Given the description of an element on the screen output the (x, y) to click on. 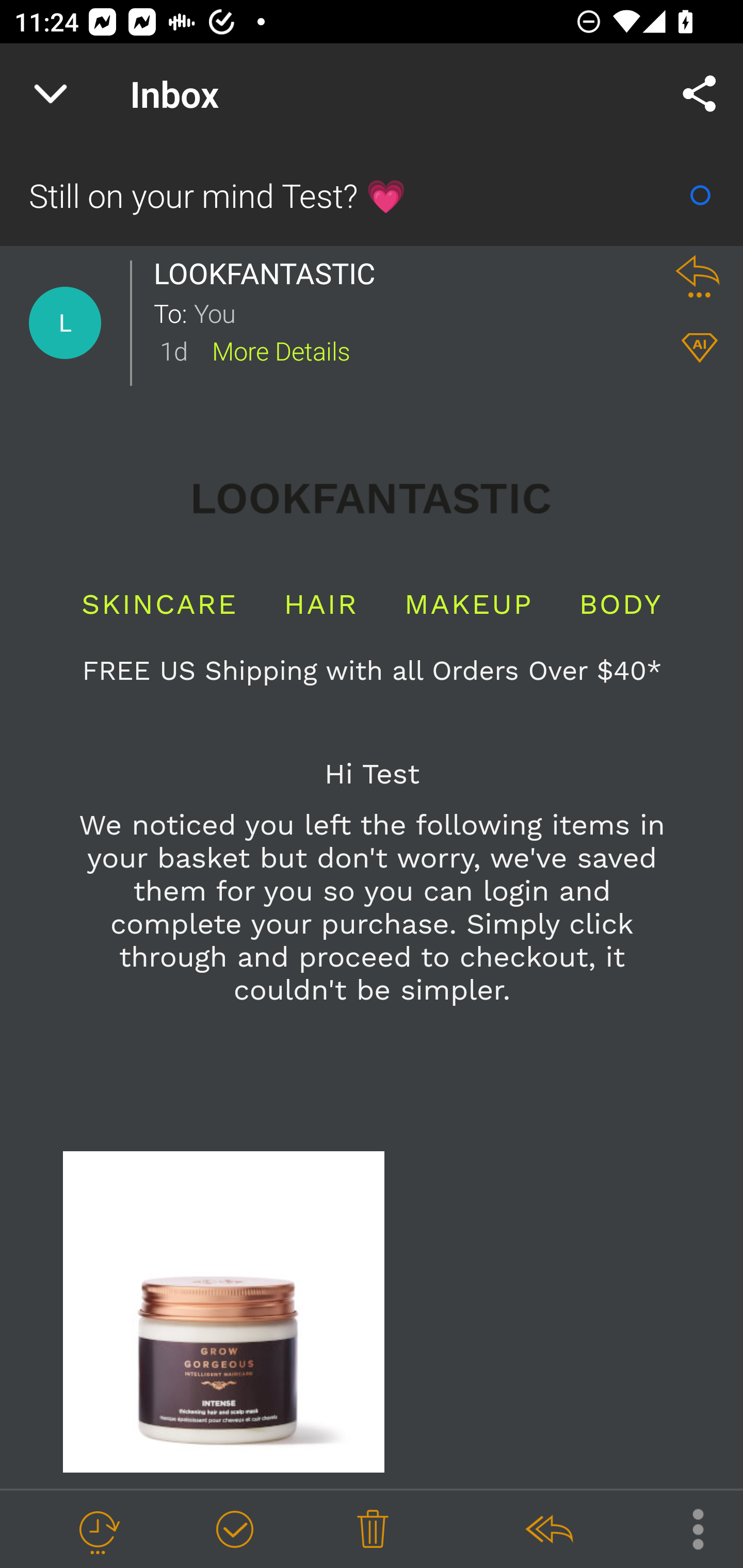
Navigate up (50, 93)
Share (699, 93)
Mark as Read (699, 194)
LOOKFANTASTIC (269, 273)
Contact Details (64, 322)
You (422, 311)
More Details (280, 349)
  SKINCARE   (159, 604)
  HAIR   (321, 604)
  MAKEUP   (468, 604)
  BODY   (620, 604)
More Options (687, 1528)
Snooze (97, 1529)
Mark as Done (234, 1529)
Delete (372, 1529)
Reply All (548, 1529)
